Given the description of an element on the screen output the (x, y) to click on. 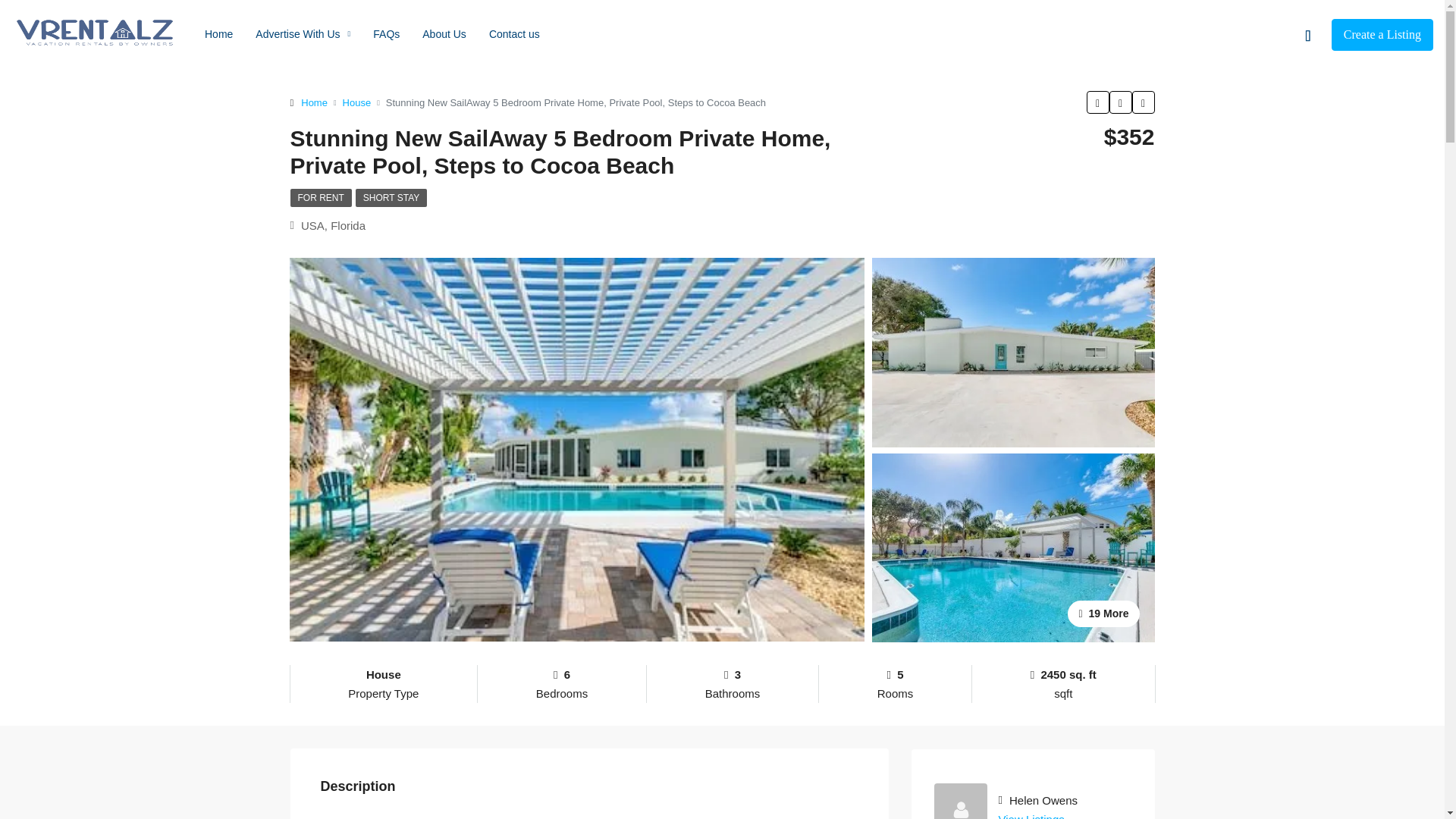
Home (314, 101)
House (356, 101)
Create a Listing (1382, 34)
FOR RENT (319, 198)
About Us (443, 33)
SHORT STAY (390, 198)
Advertise With Us (302, 33)
Contact us (514, 33)
